Given the description of an element on the screen output the (x, y) to click on. 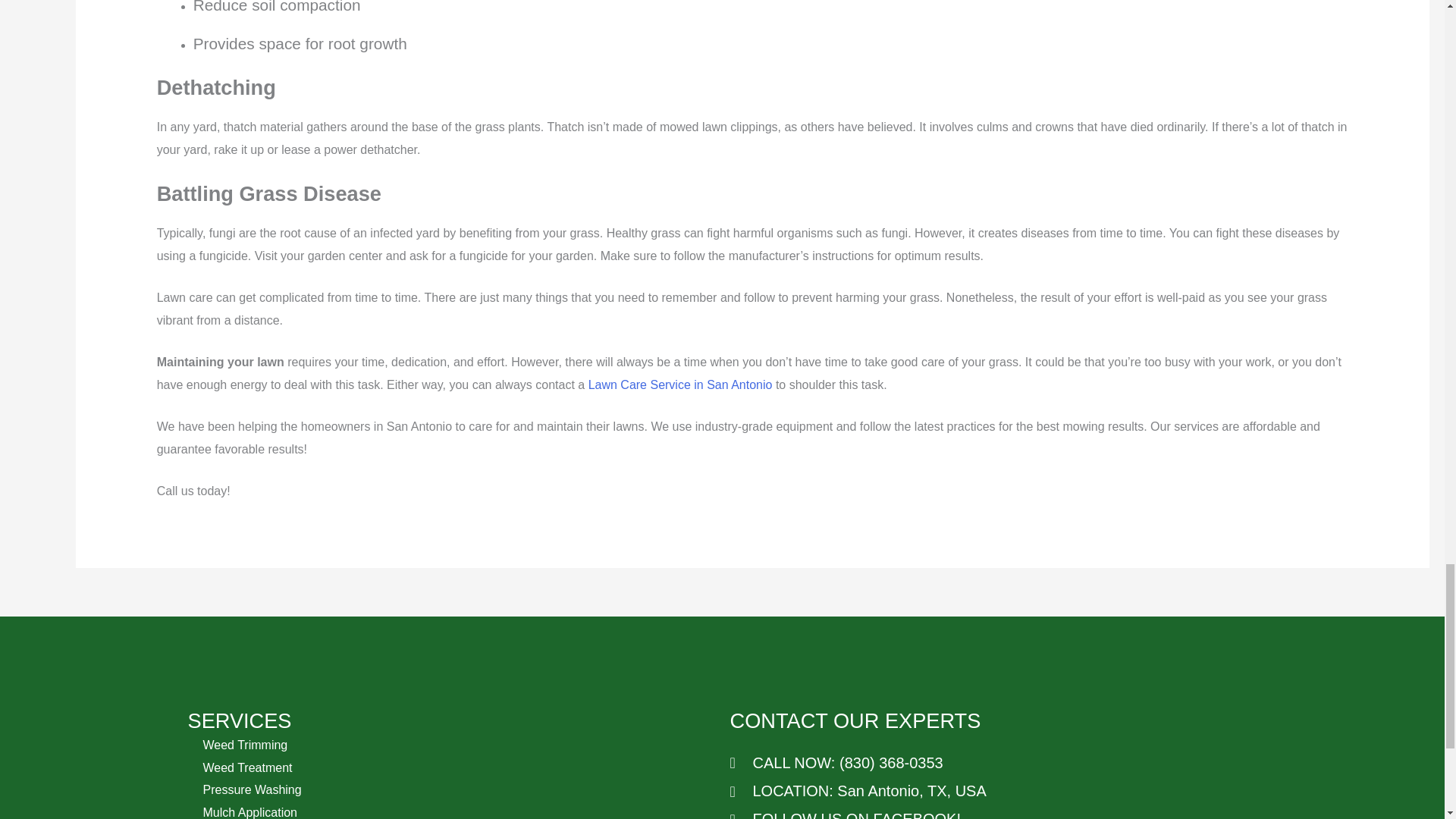
Weed Trimming (245, 744)
Mulch Application (250, 812)
Pressure Washing (252, 789)
Lawn Care Service in San Antonio (680, 384)
Weed Treatment (247, 767)
